Given the description of an element on the screen output the (x, y) to click on. 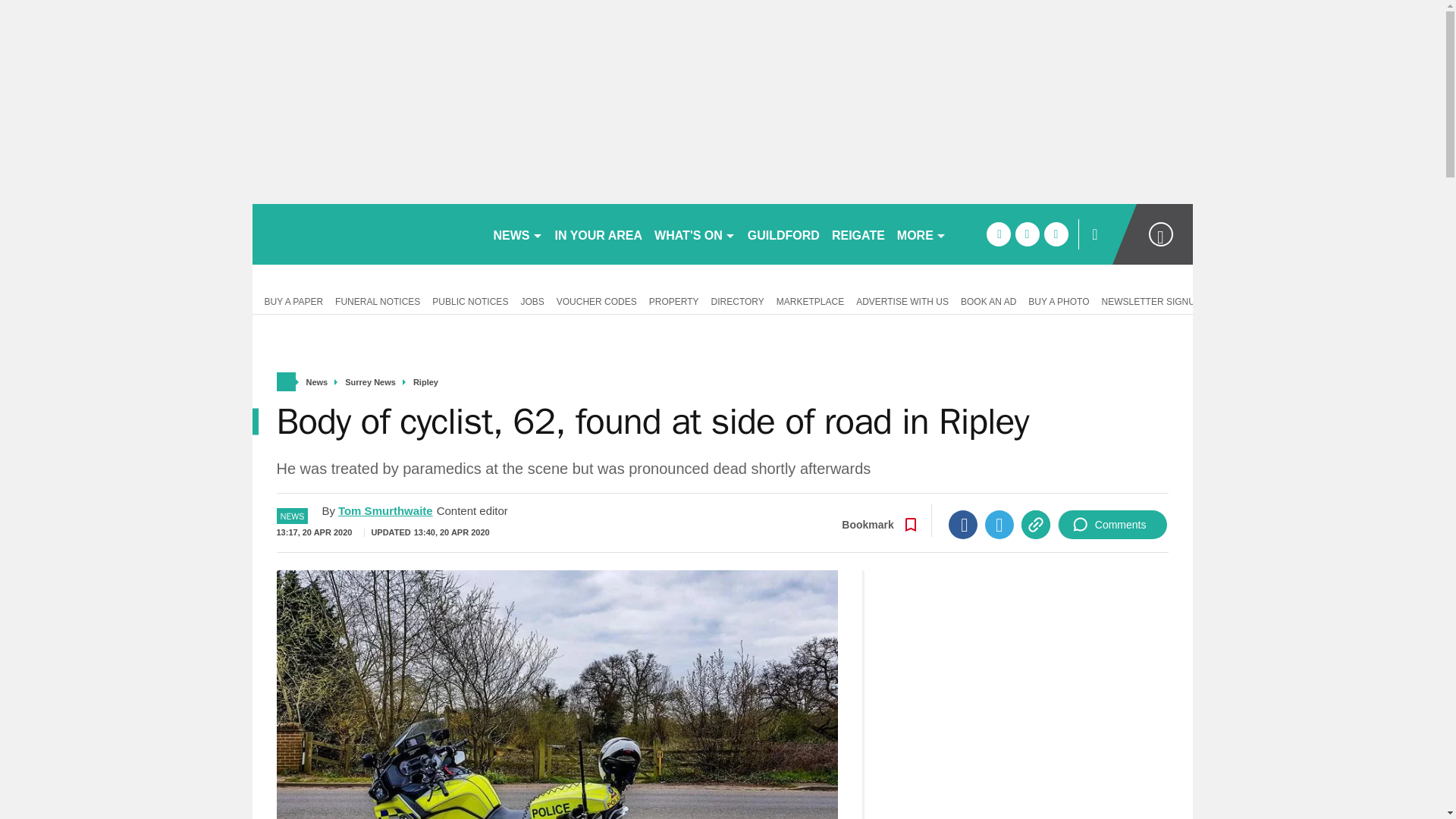
Twitter (999, 524)
WHAT'S ON (694, 233)
twitter (1026, 233)
PROPERTY (673, 300)
IN YOUR AREA (598, 233)
REIGATE (858, 233)
facebook (997, 233)
PUBLIC NOTICES (469, 300)
instagram (1055, 233)
getsurrey (365, 233)
Comments (1112, 524)
BUY A PAPER (290, 300)
GUILDFORD (783, 233)
JOBS (531, 300)
VOUCHER CODES (596, 300)
